Given the description of an element on the screen output the (x, y) to click on. 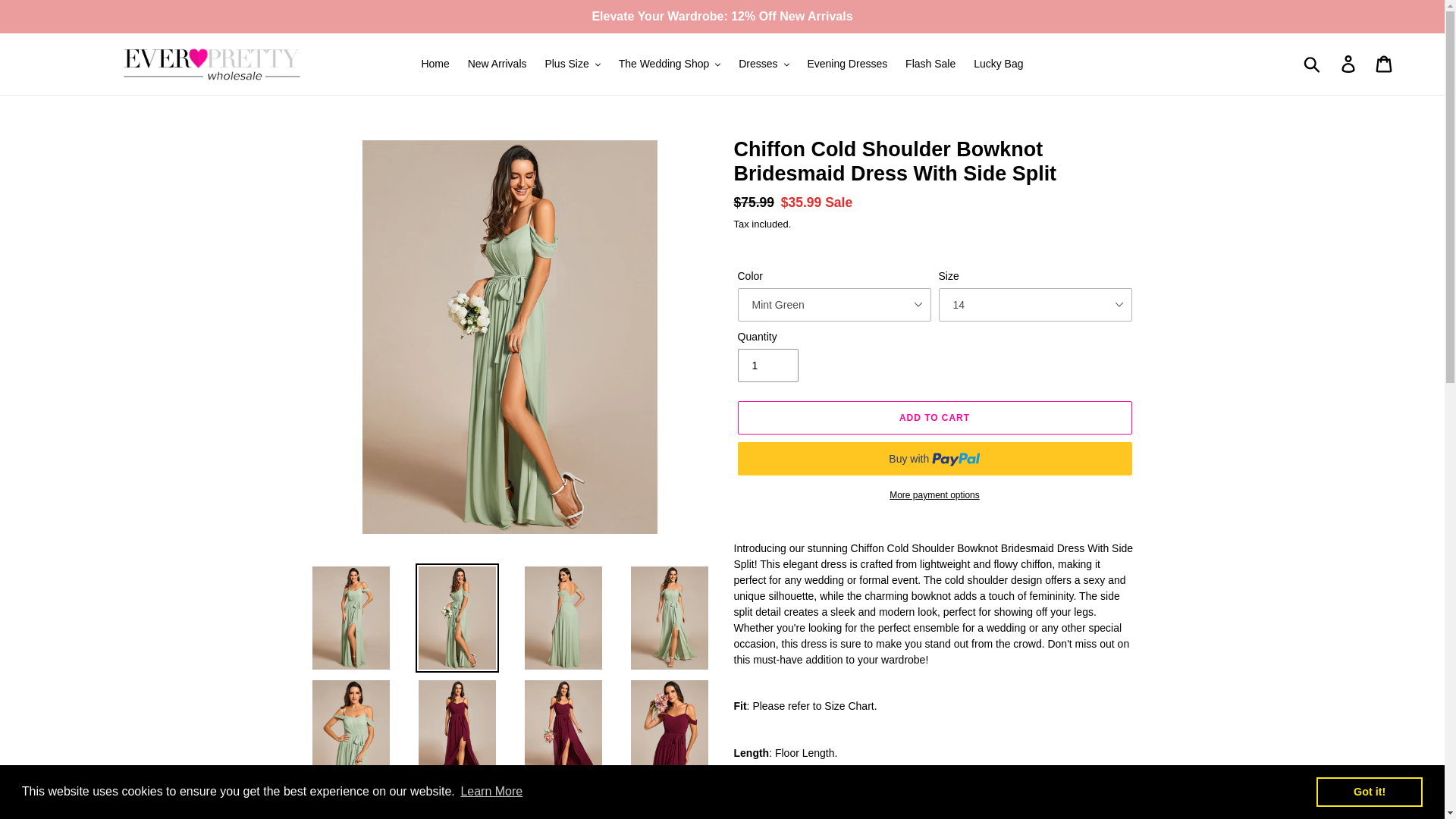
Home (435, 64)
New Arrivals (497, 64)
1 (766, 365)
Got it! (1369, 791)
Learn More (491, 791)
